Given the description of an element on the screen output the (x, y) to click on. 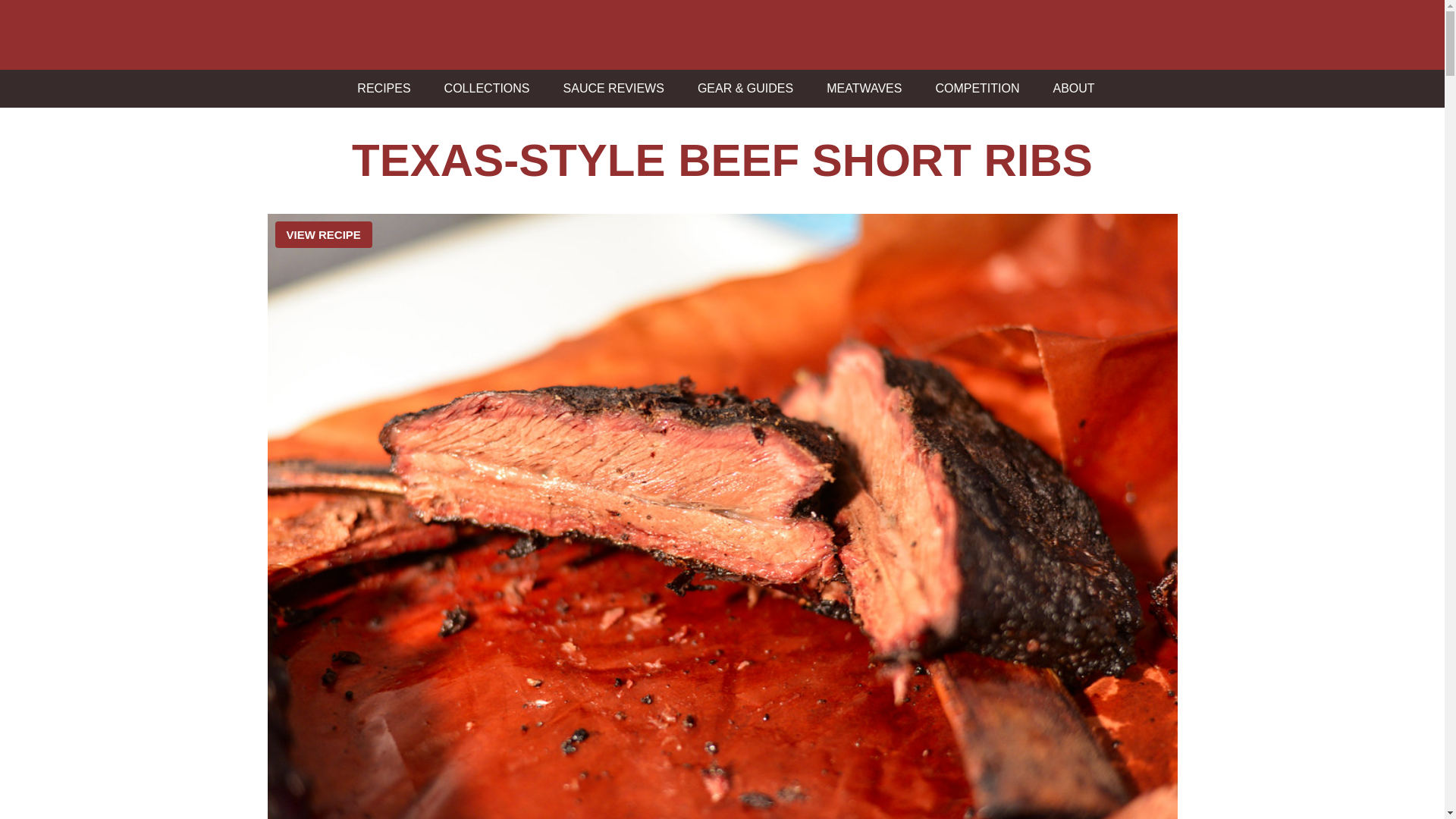
MEATWAVES (860, 87)
RECIPES (379, 87)
COMPETITION (972, 87)
COLLECTIONS (483, 87)
Search (21, 8)
VIEW RECIPE (323, 234)
SAUCE REVIEWS (609, 87)
ABOUT (1069, 87)
